Given the description of an element on the screen output the (x, y) to click on. 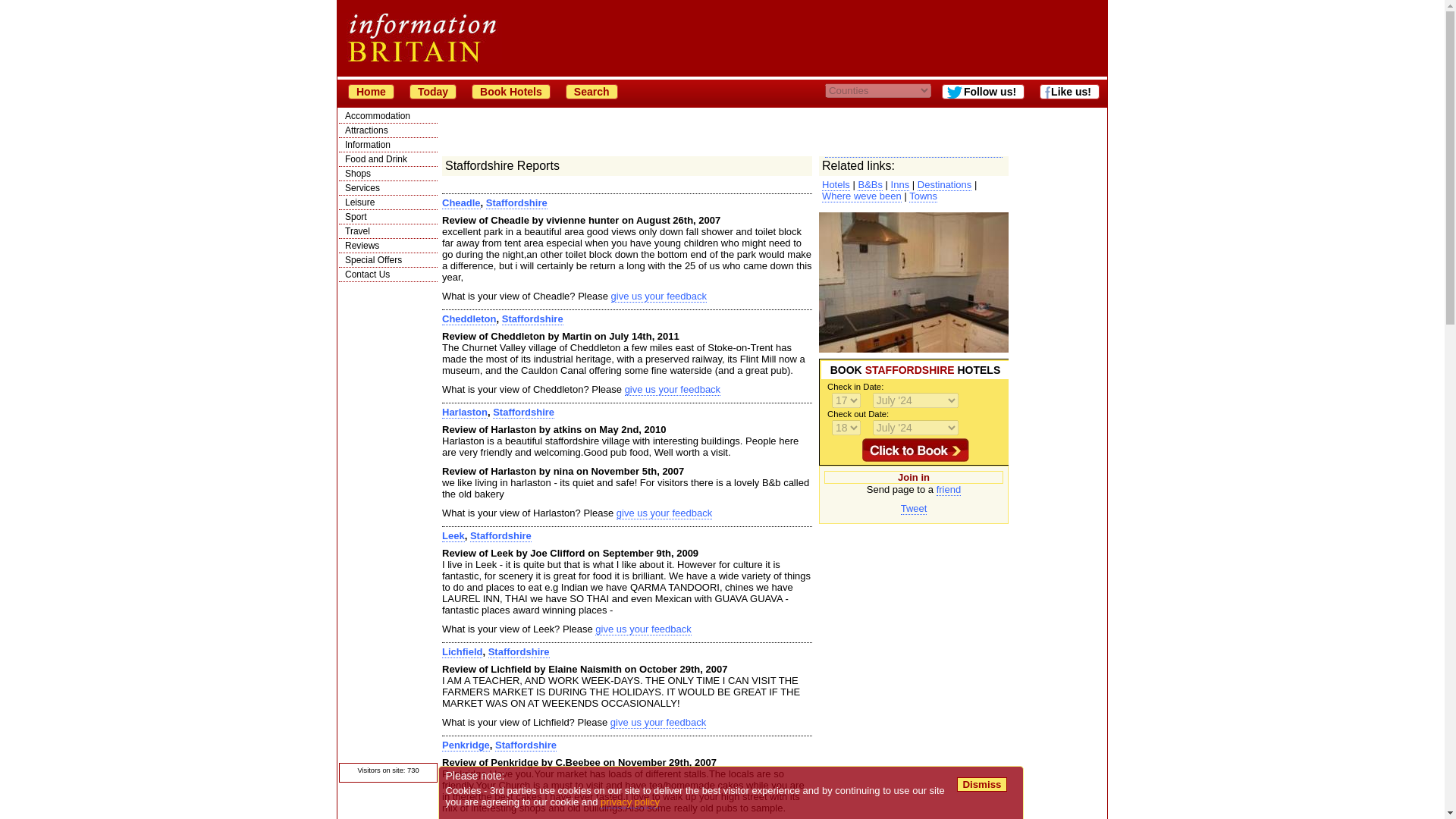
Like us! (1069, 91)
Today (433, 91)
Contact Us (388, 274)
Accommodation (388, 115)
Search (591, 91)
Review Centre (388, 245)
Special Offers (388, 259)
Follow us! (983, 91)
Home (370, 91)
Book Hotels (510, 91)
